Given the description of an element on the screen output the (x, y) to click on. 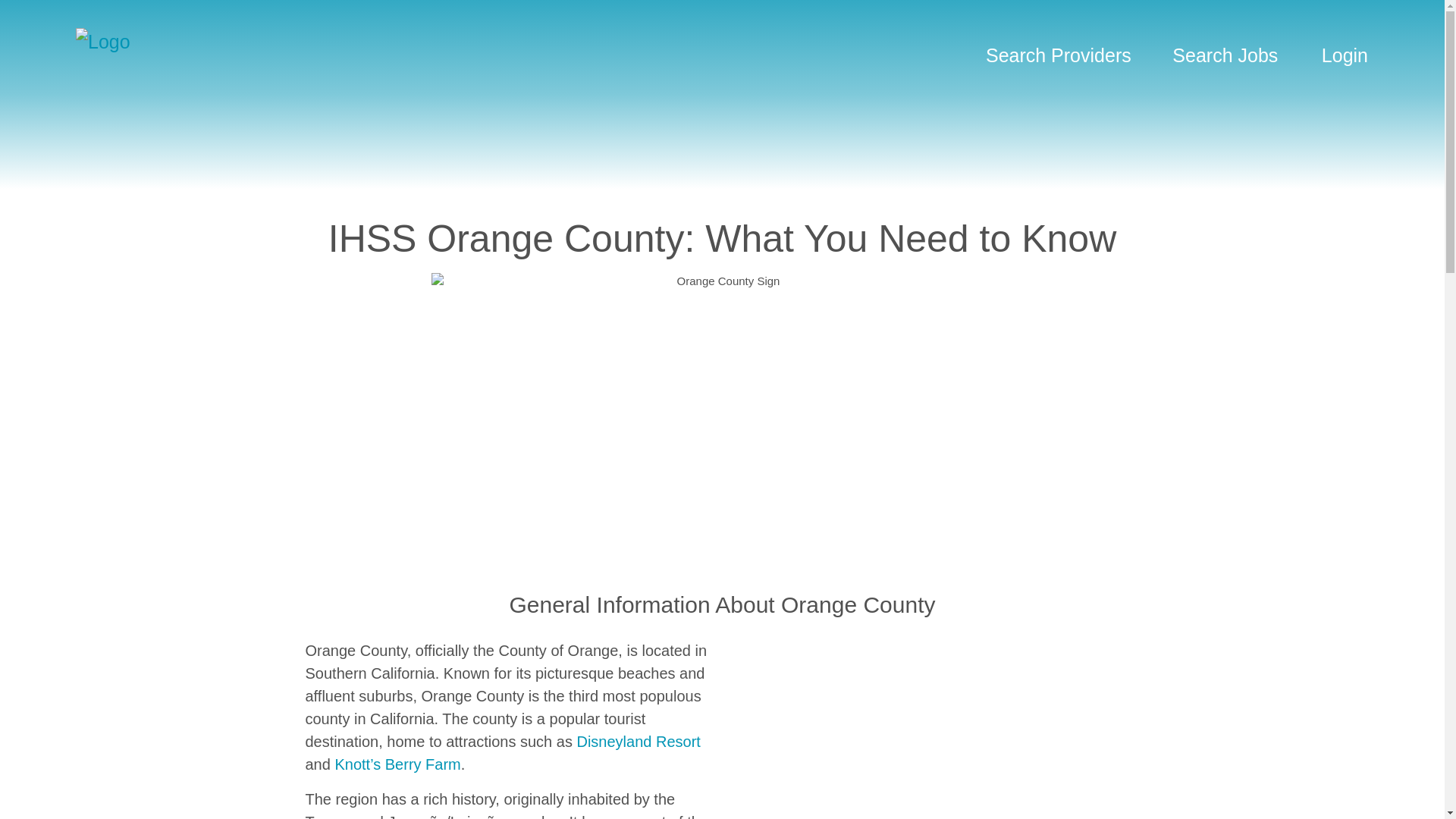
Search Jobs (1224, 38)
Orange County, CA (933, 729)
Disneyland Resort (638, 741)
Search Providers (1058, 38)
